Given the description of an element on the screen output the (x, y) to click on. 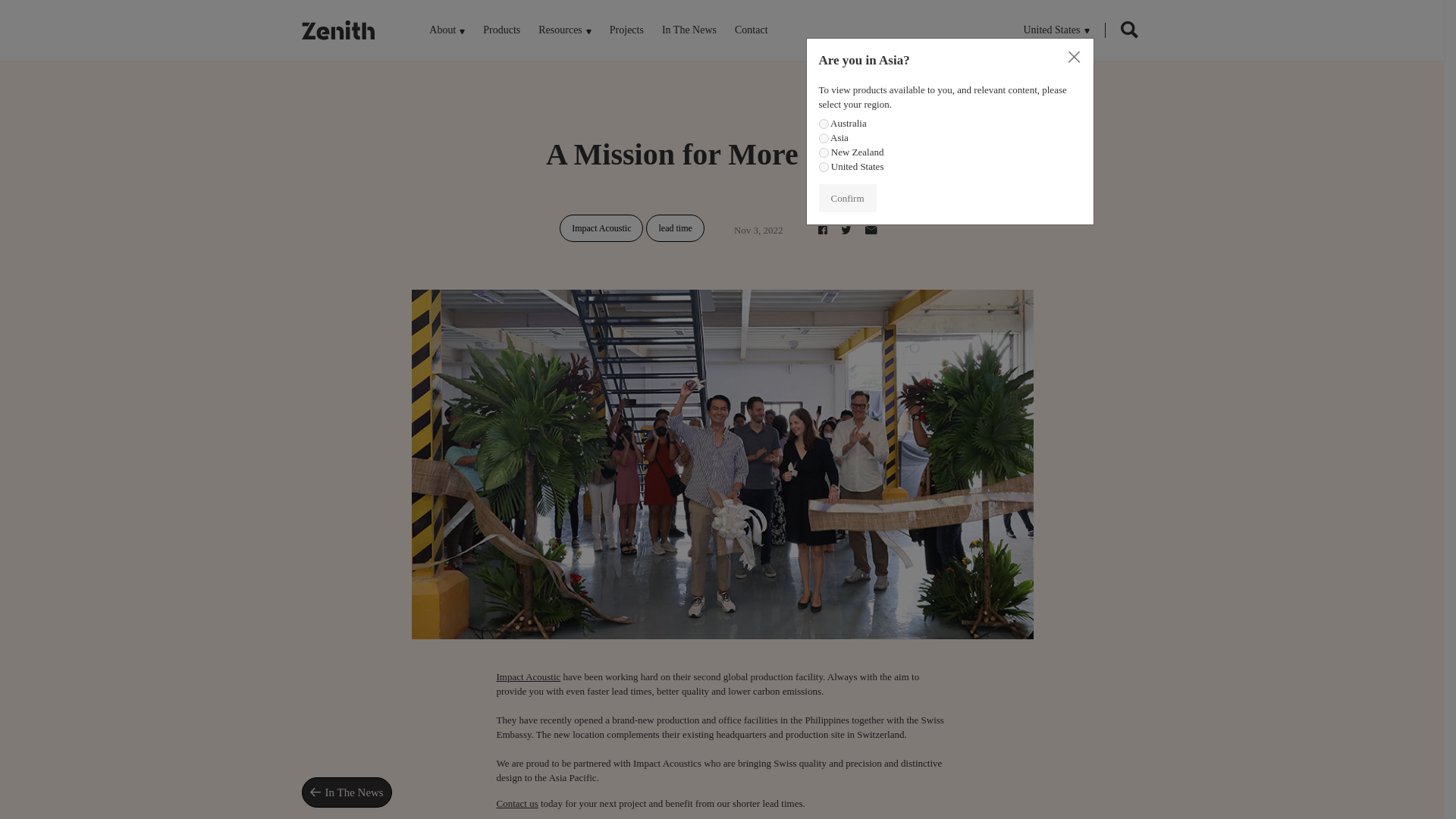
Search (1129, 32)
lead time (674, 227)
In The News (689, 30)
Zenith (338, 30)
en-AU (823, 123)
en-HK (823, 138)
Impact Acoustic (528, 676)
Contact us (516, 803)
Impact Acoustic (528, 676)
Contact (516, 803)
